Given the description of an element on the screen output the (x, y) to click on. 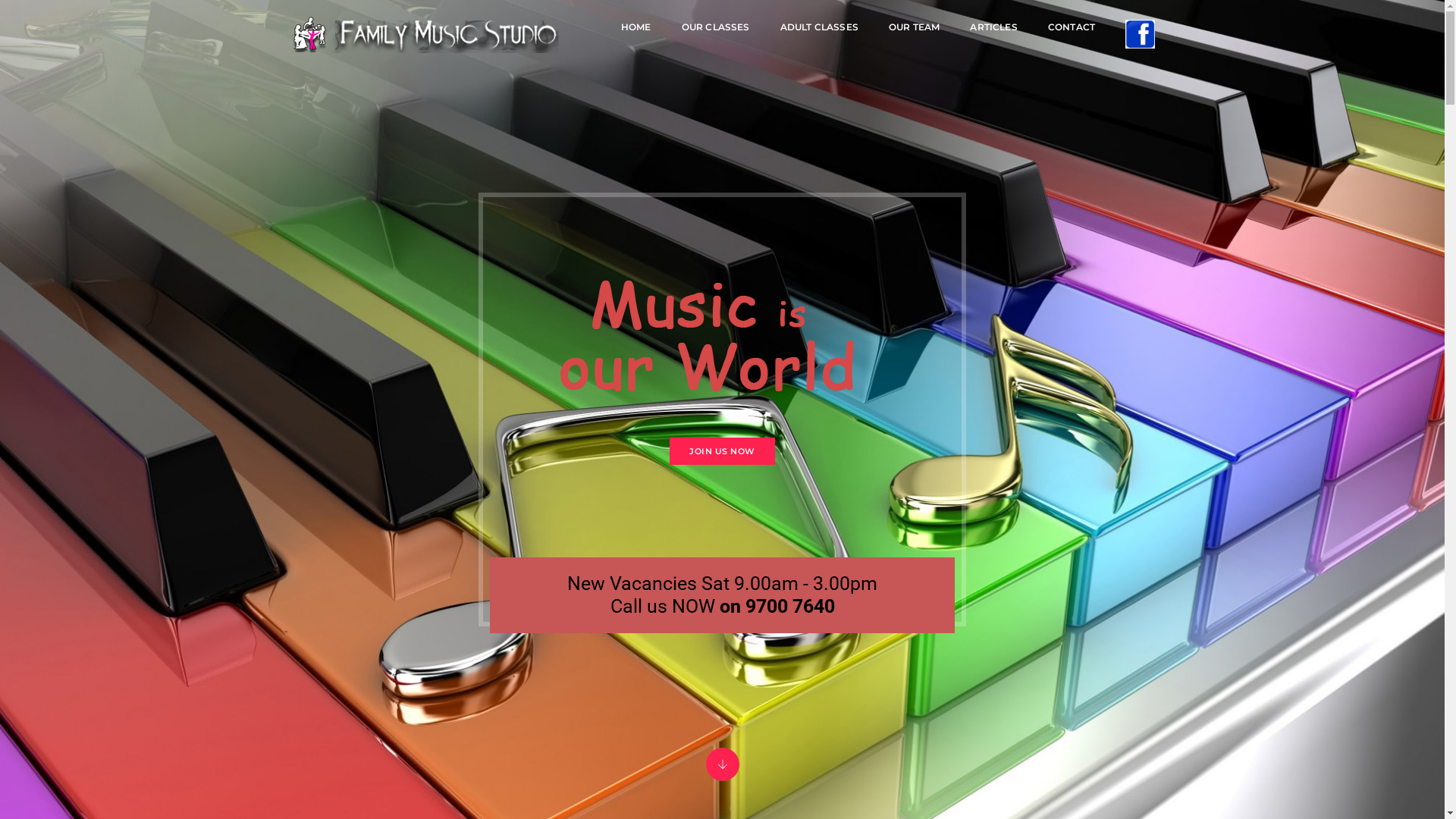
OUR CLASSES Element type: text (715, 27)
JOIN US NOW Element type: text (722, 450)
HOME Element type: text (636, 27)
ADULT CLASSES Element type: text (819, 27)
ARTICLES Element type: text (992, 27)
CONTACT Element type: text (1071, 27)
OUR TEAM Element type: text (913, 27)
